Given the description of an element on the screen output the (x, y) to click on. 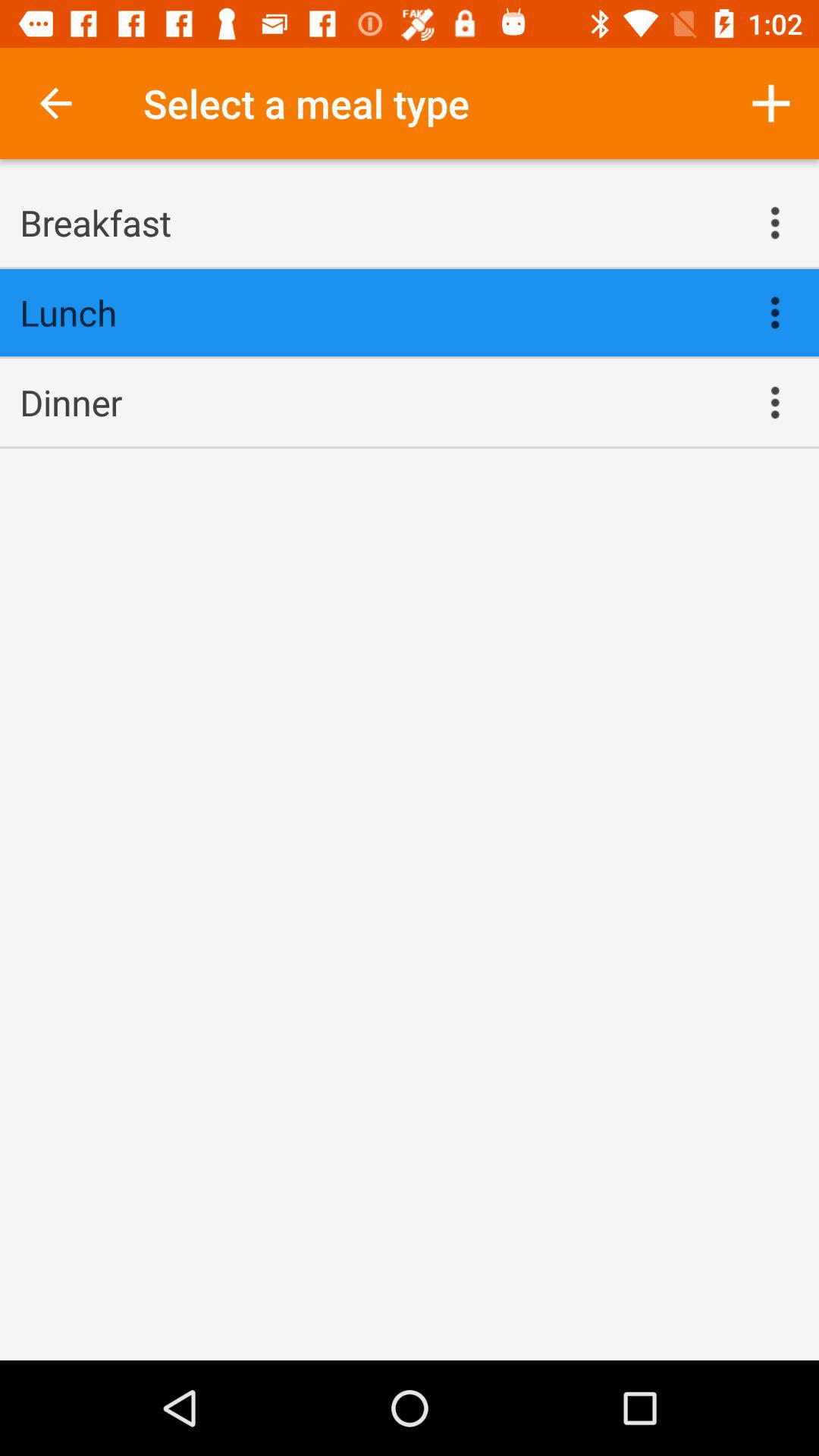
choose the lunch icon (375, 312)
